Given the description of an element on the screen output the (x, y) to click on. 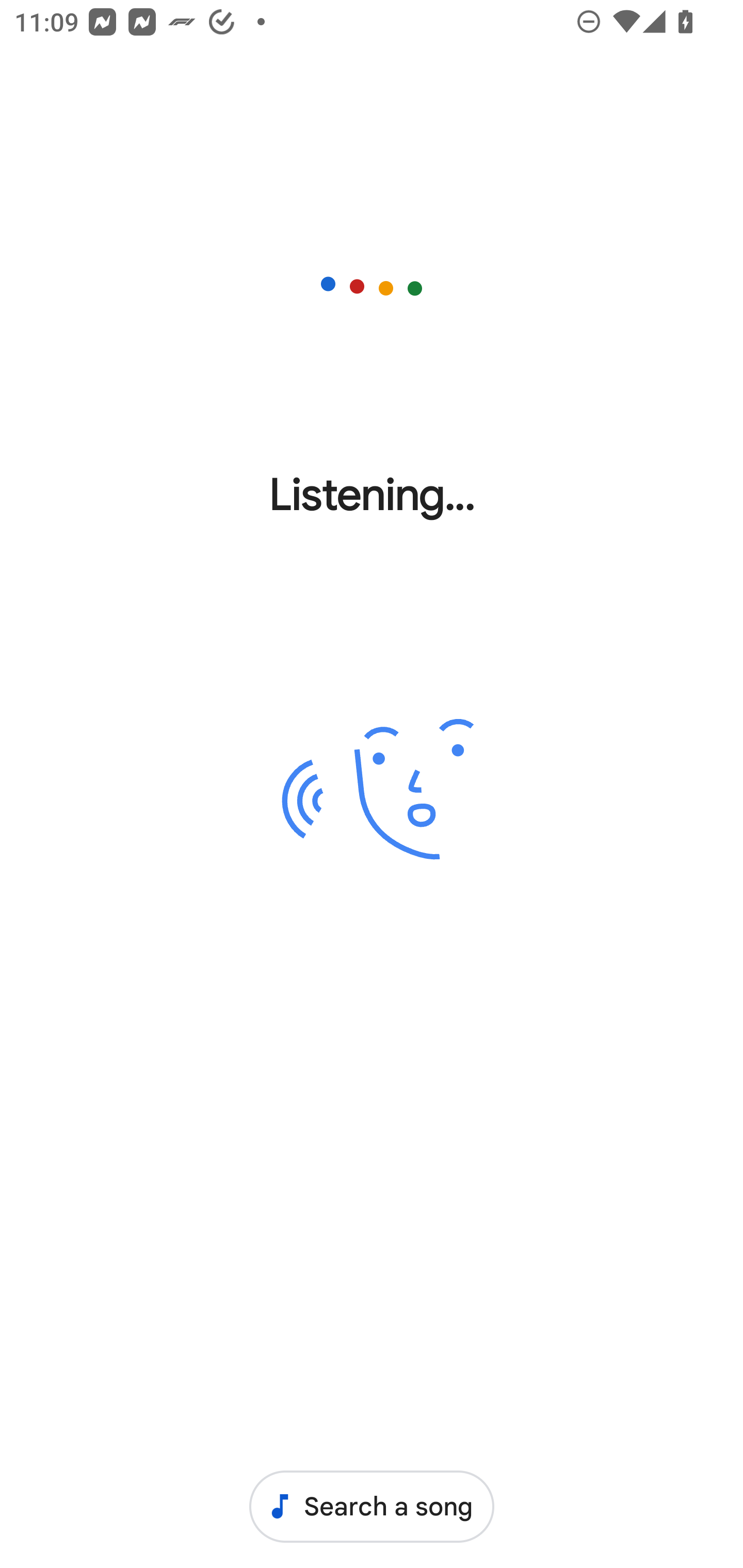
Search a song (371, 1505)
